Given the description of an element on the screen output the (x, y) to click on. 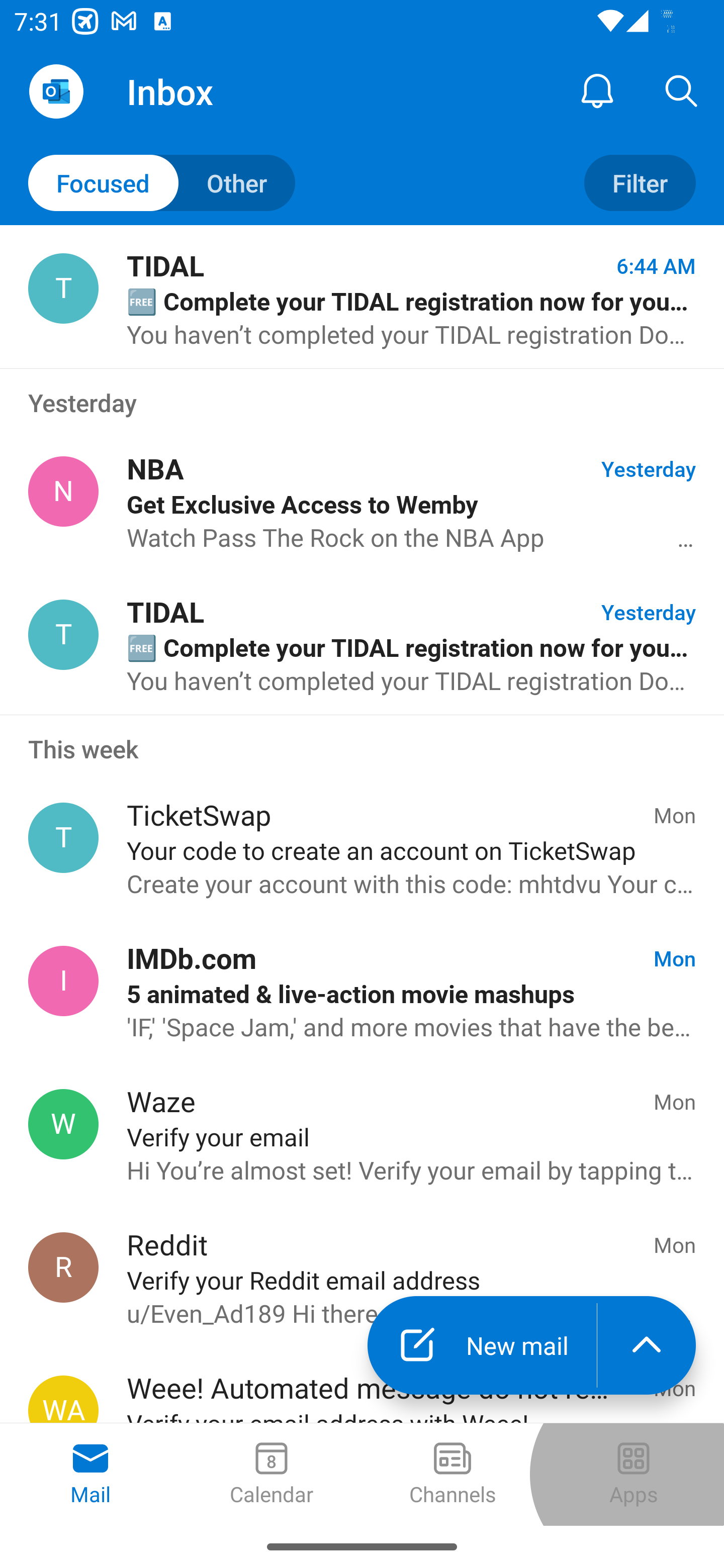
Notification Center (597, 90)
Search, ,  (681, 90)
Open Navigation Drawer (55, 91)
Toggle to other mails (161, 183)
Filter (639, 183)
TIDAL, hello@email.tidal.com (63, 288)
NBA, NBA@email.nba.com (63, 491)
TIDAL, hello@email.tidal.com (63, 633)
TicketSwap, info@ticketswap.com (63, 837)
IMDb.com, do-not-reply@imdb.com (63, 980)
Waze, noreply@waze.com (63, 1123)
Reddit, noreply@reddit.com (63, 1267)
New mail (481, 1344)
launch the extended action menu (646, 1344)
Calendar (271, 1474)
Channels (452, 1474)
Apps (633, 1474)
